Given the description of an element on the screen output the (x, y) to click on. 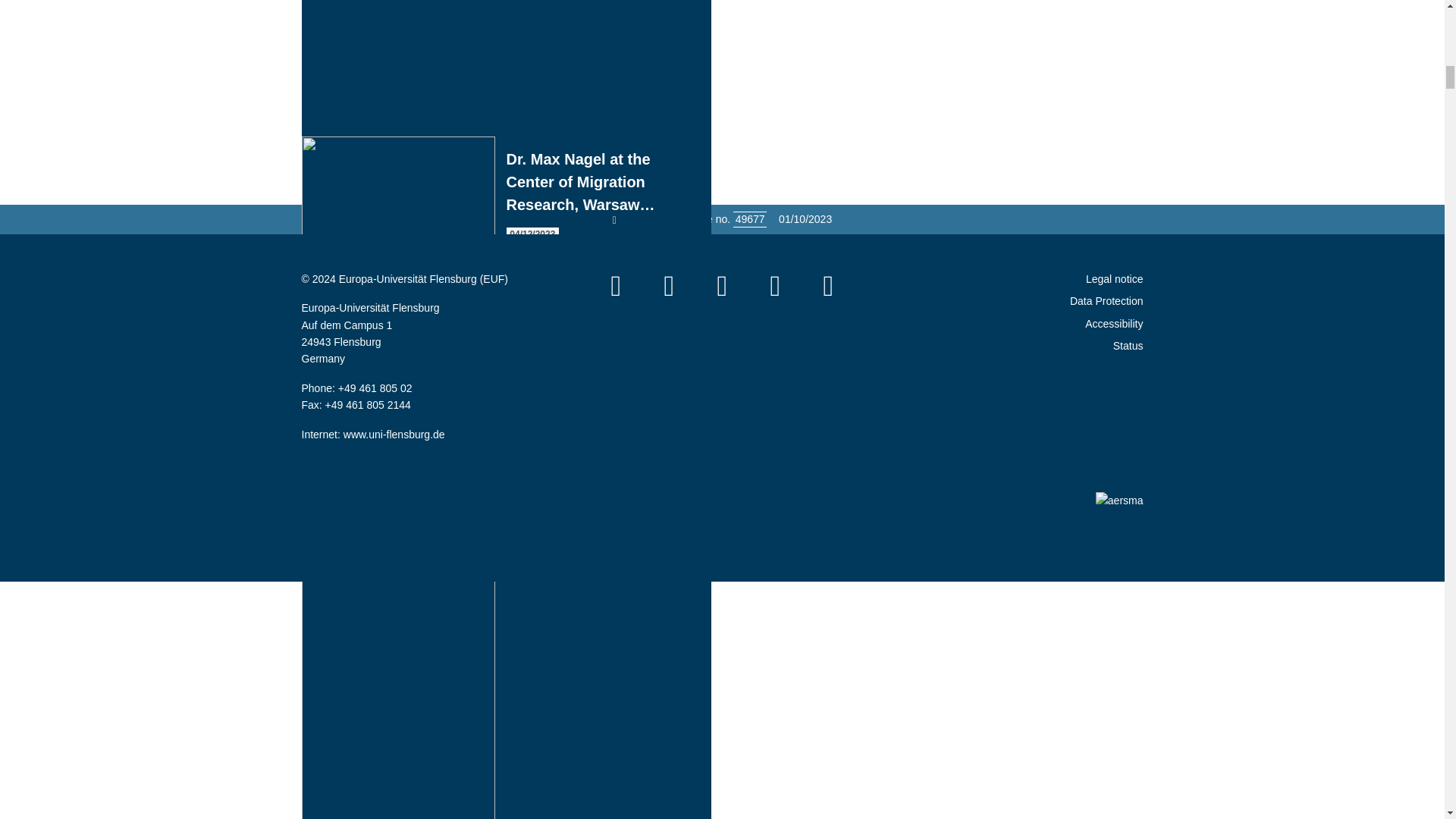
49677 (750, 218)
